Given the description of an element on the screen output the (x, y) to click on. 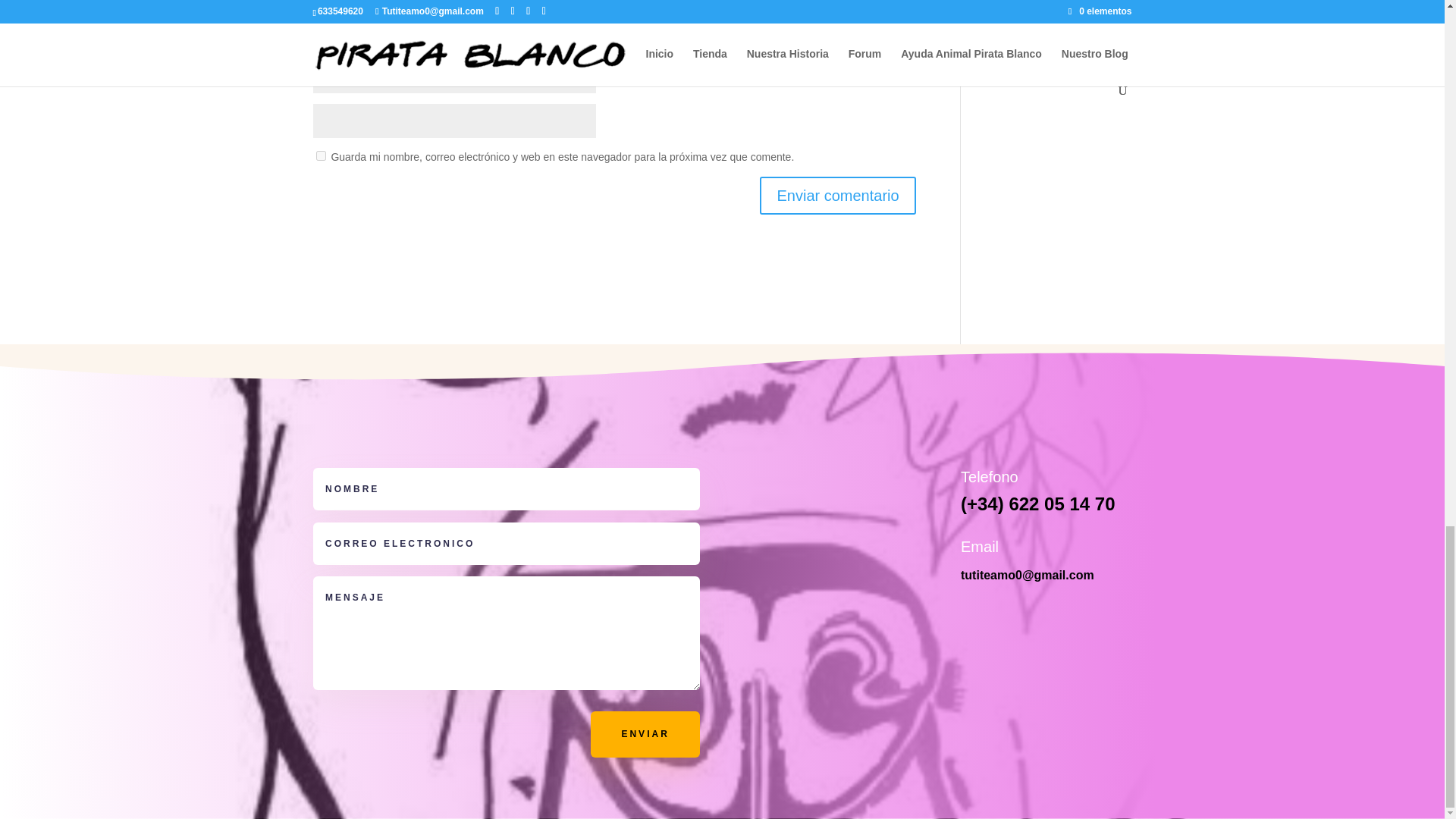
Enviar comentario (837, 195)
ENVIAR (644, 733)
Enviar comentario (837, 195)
yes (319, 155)
